Given the description of an element on the screen output the (x, y) to click on. 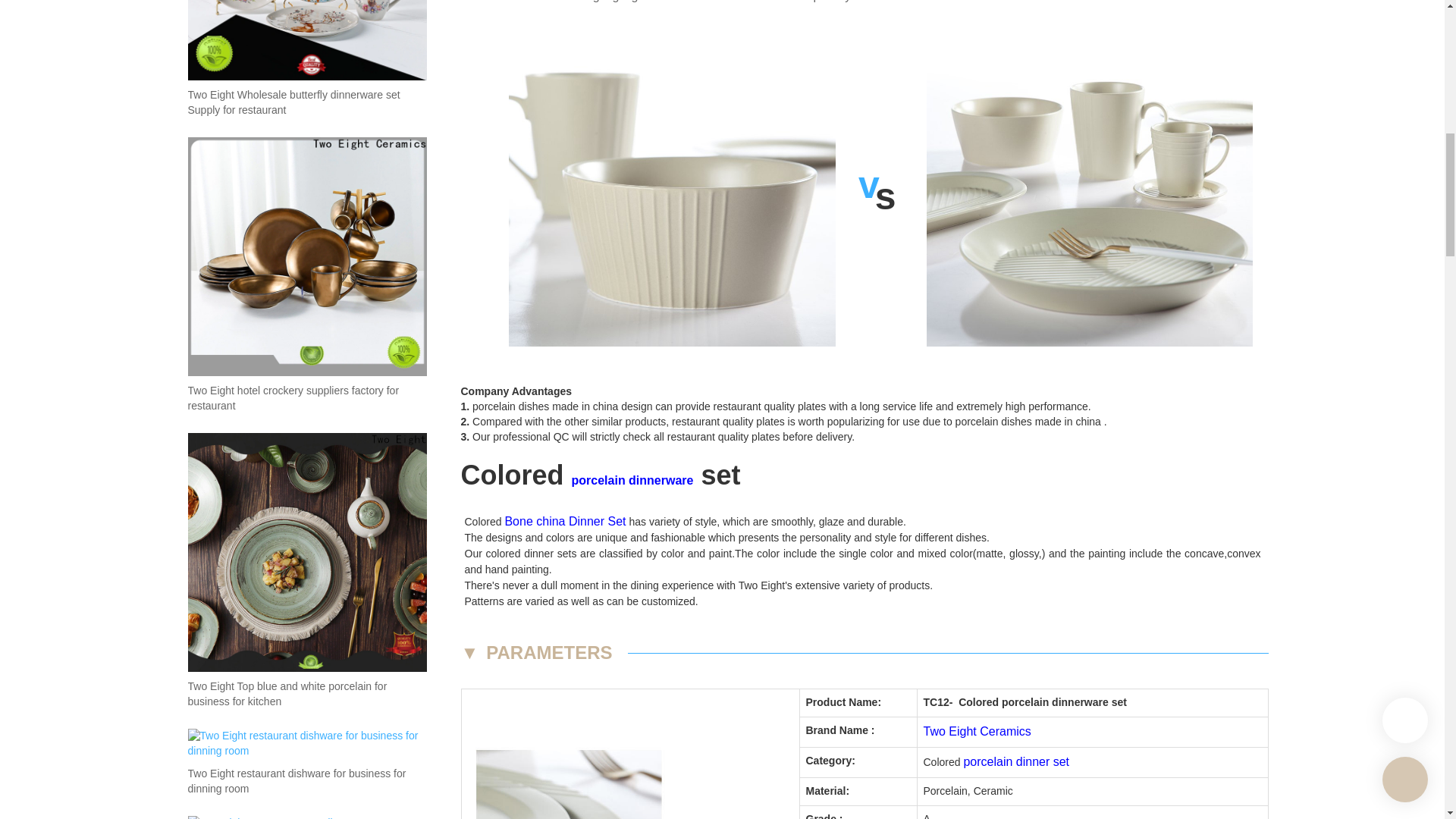
Two Eight restaurant dishware for business for dinning room (306, 781)
undefined (629, 779)
Two Eight hotel crockery suppliers factory for restaurant (306, 399)
